Given the description of an element on the screen output the (x, y) to click on. 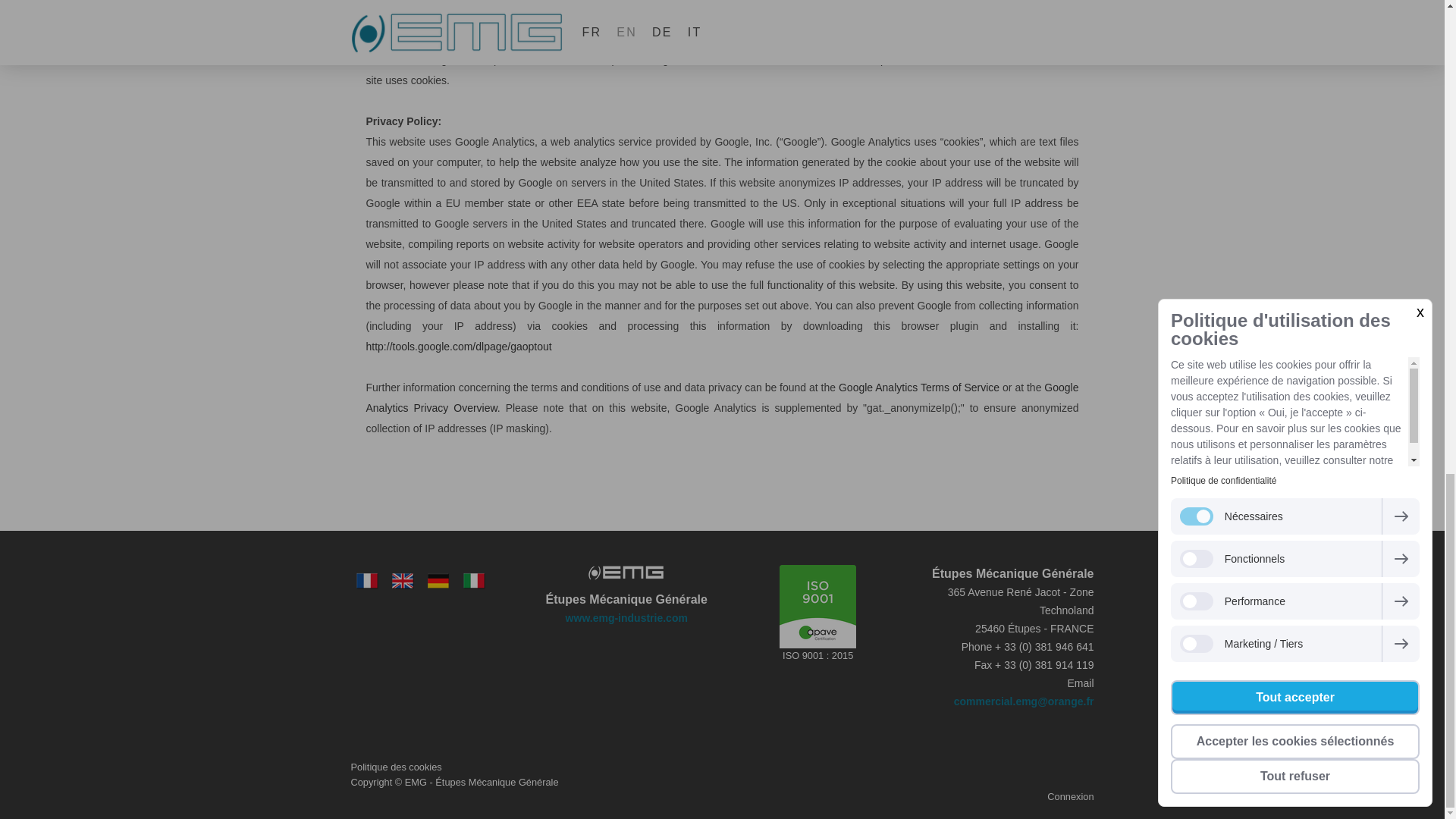
www.emg-industrie.com (626, 617)
